Given the description of an element on the screen output the (x, y) to click on. 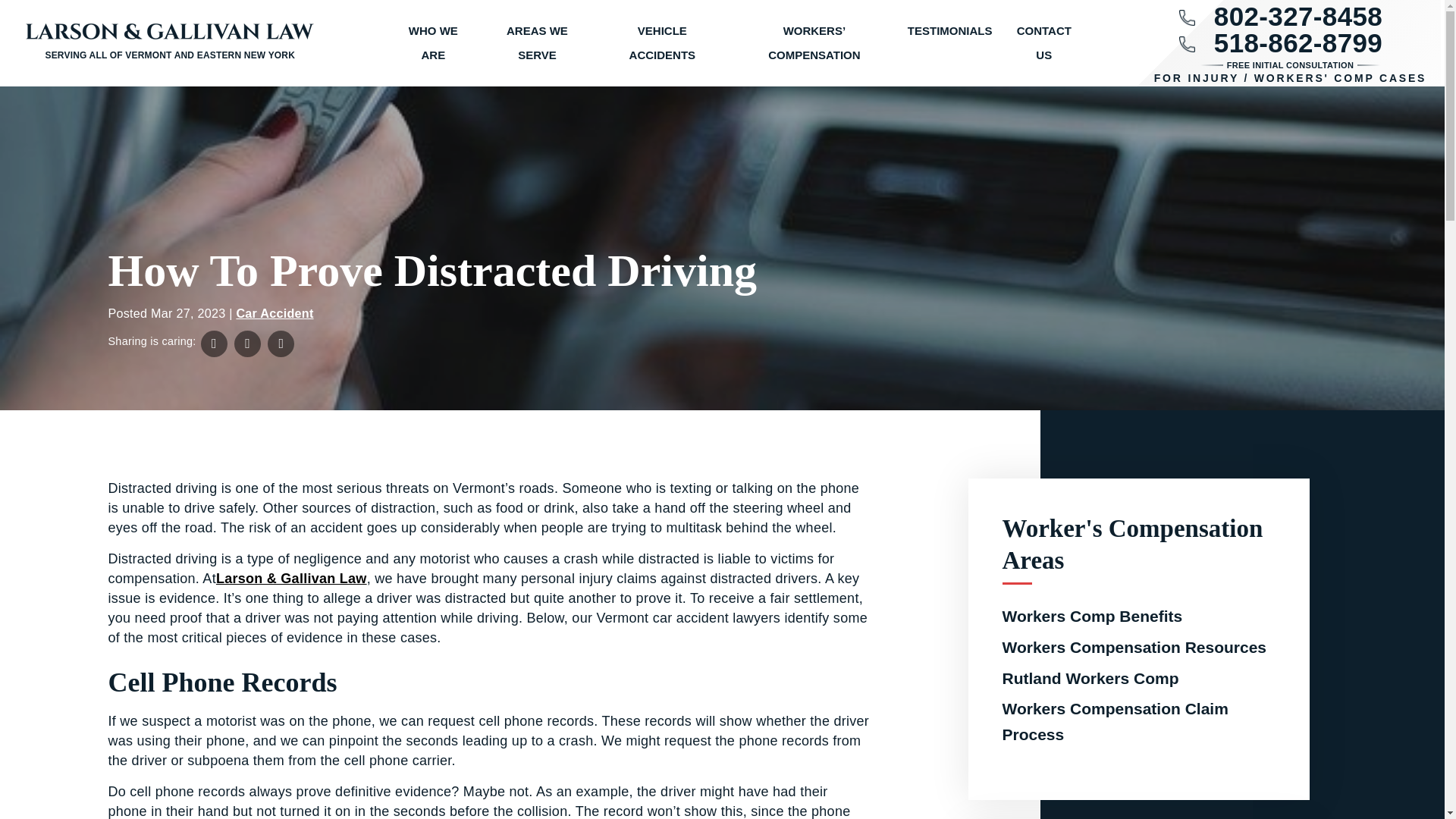
Share on LinkedIn (280, 343)
Share on Facebook (213, 343)
WHO WE ARE (433, 43)
Share on Twitter (247, 343)
AREAS WE SERVE (537, 43)
